Given the description of an element on the screen output the (x, y) to click on. 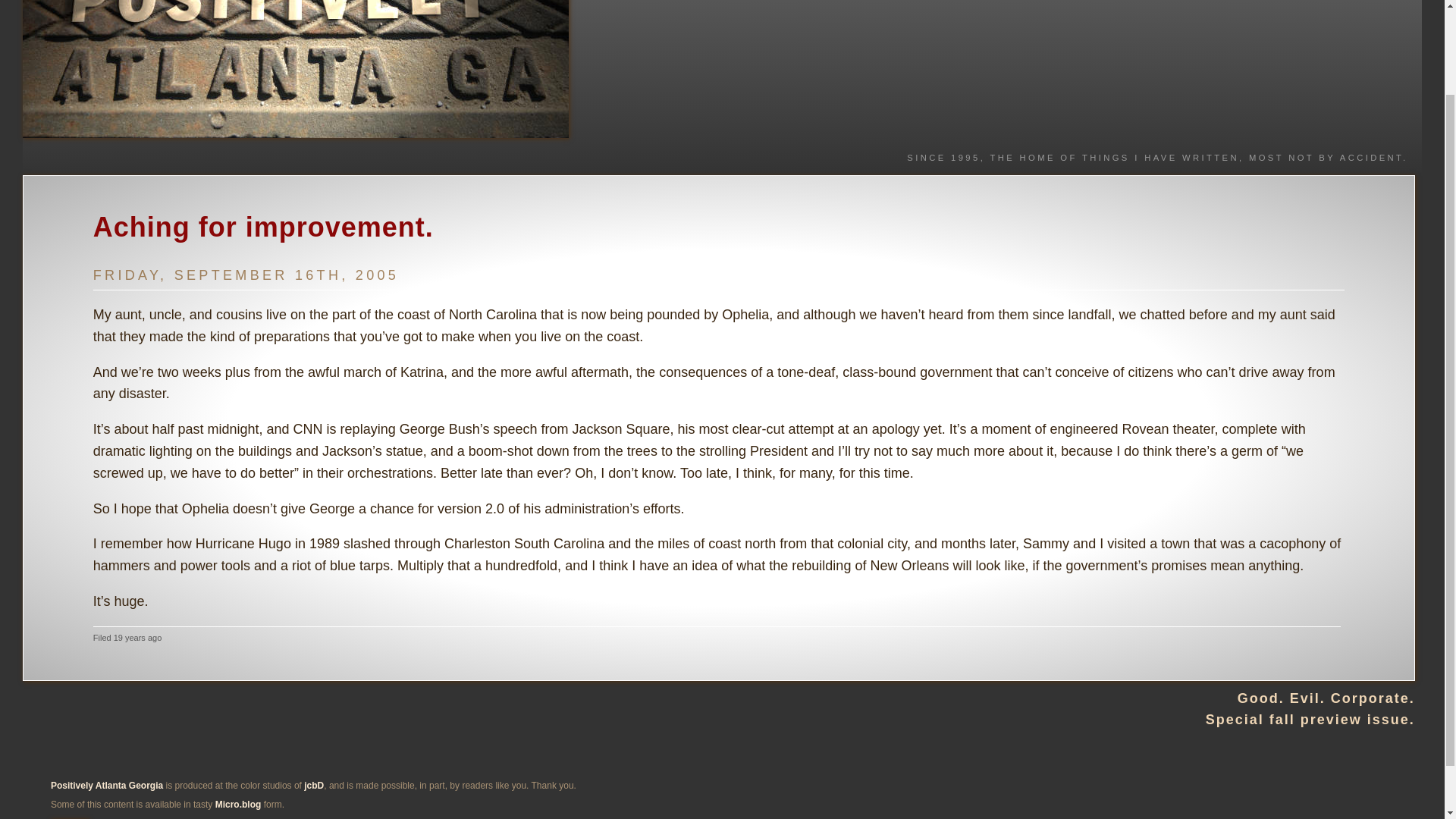
Aching for improvement. (263, 226)
jcbD (313, 785)
SINCE 1995 (943, 157)
Micro.blog (238, 804)
